Given the description of an element on the screen output the (x, y) to click on. 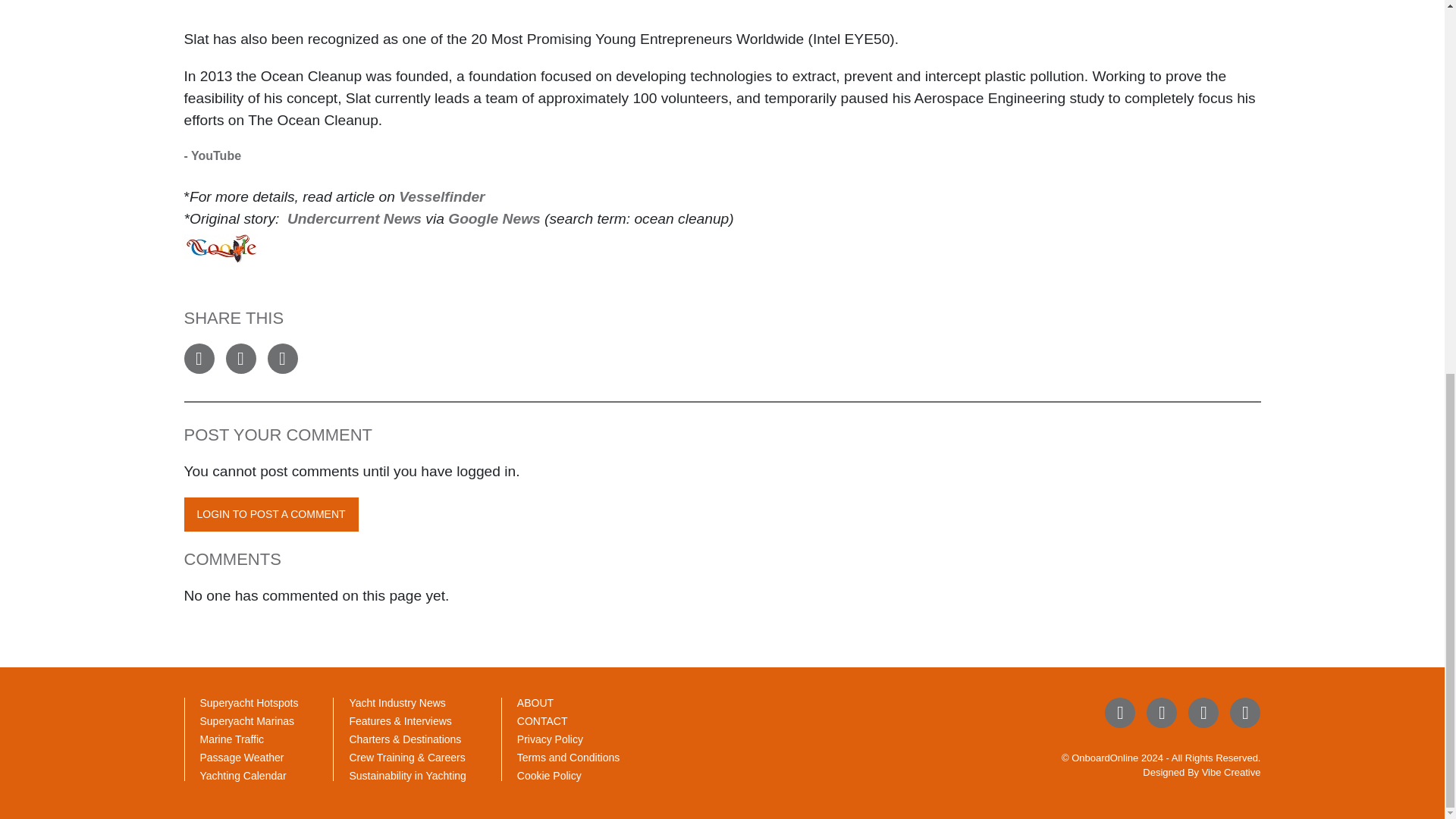
Login to post a comment (270, 514)
Passage Weather (241, 757)
Google News (494, 218)
Share on LinkedIn (281, 358)
Superyacht Marinas (247, 720)
Superyacht Hotspots (249, 702)
- YouTube (212, 155)
LOGIN TO POST A COMMENT (270, 514)
Yacht Industry News (397, 702)
Yachting Calendar (243, 775)
